Given the description of an element on the screen output the (x, y) to click on. 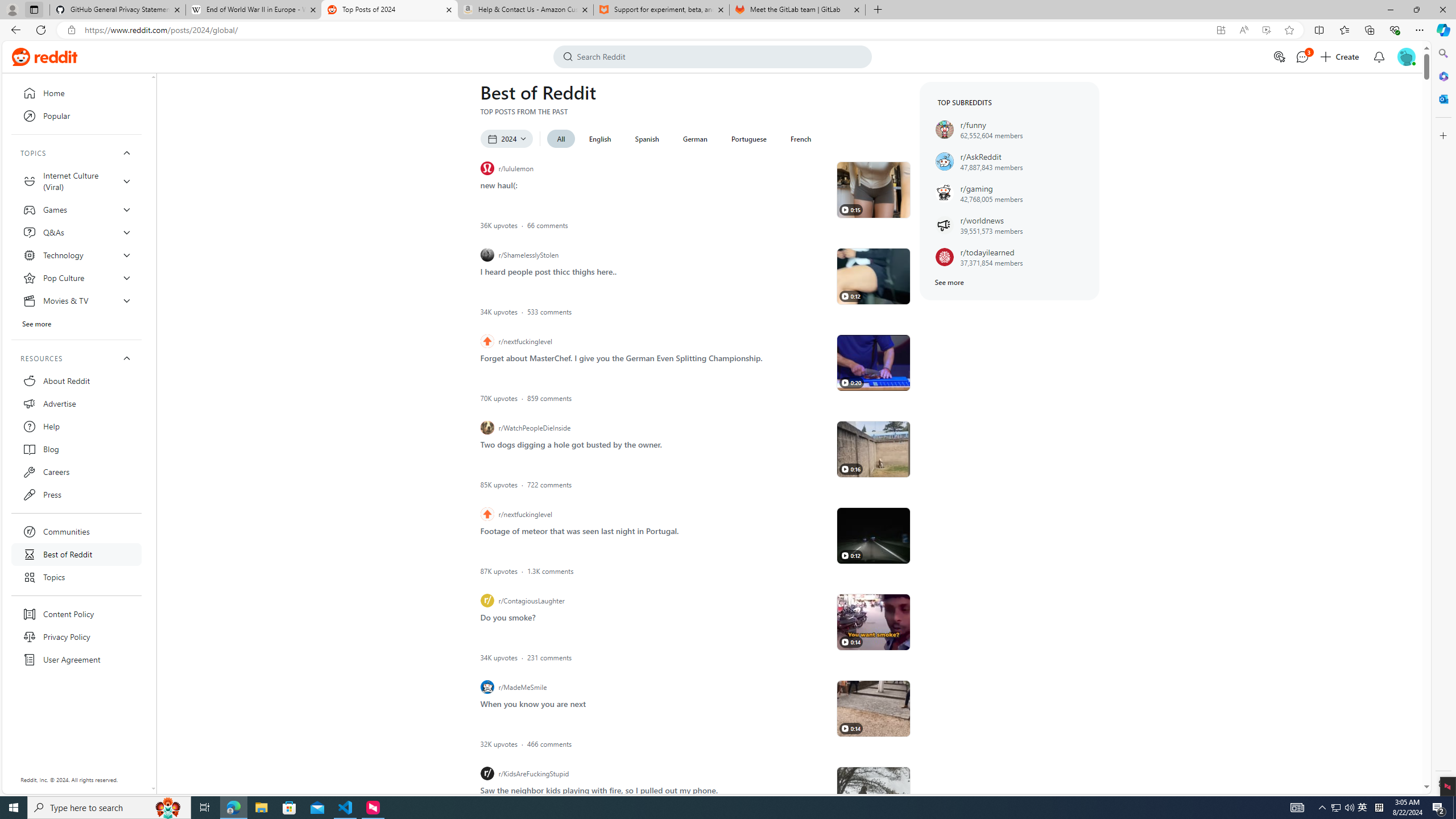
TOPICS (76, 152)
r/KidsAreFuckingStupid (654, 773)
Careers (76, 471)
Games (76, 209)
r/funny icon (943, 129)
r/MadeMeSmile icon (486, 686)
